Given the description of an element on the screen output the (x, y) to click on. 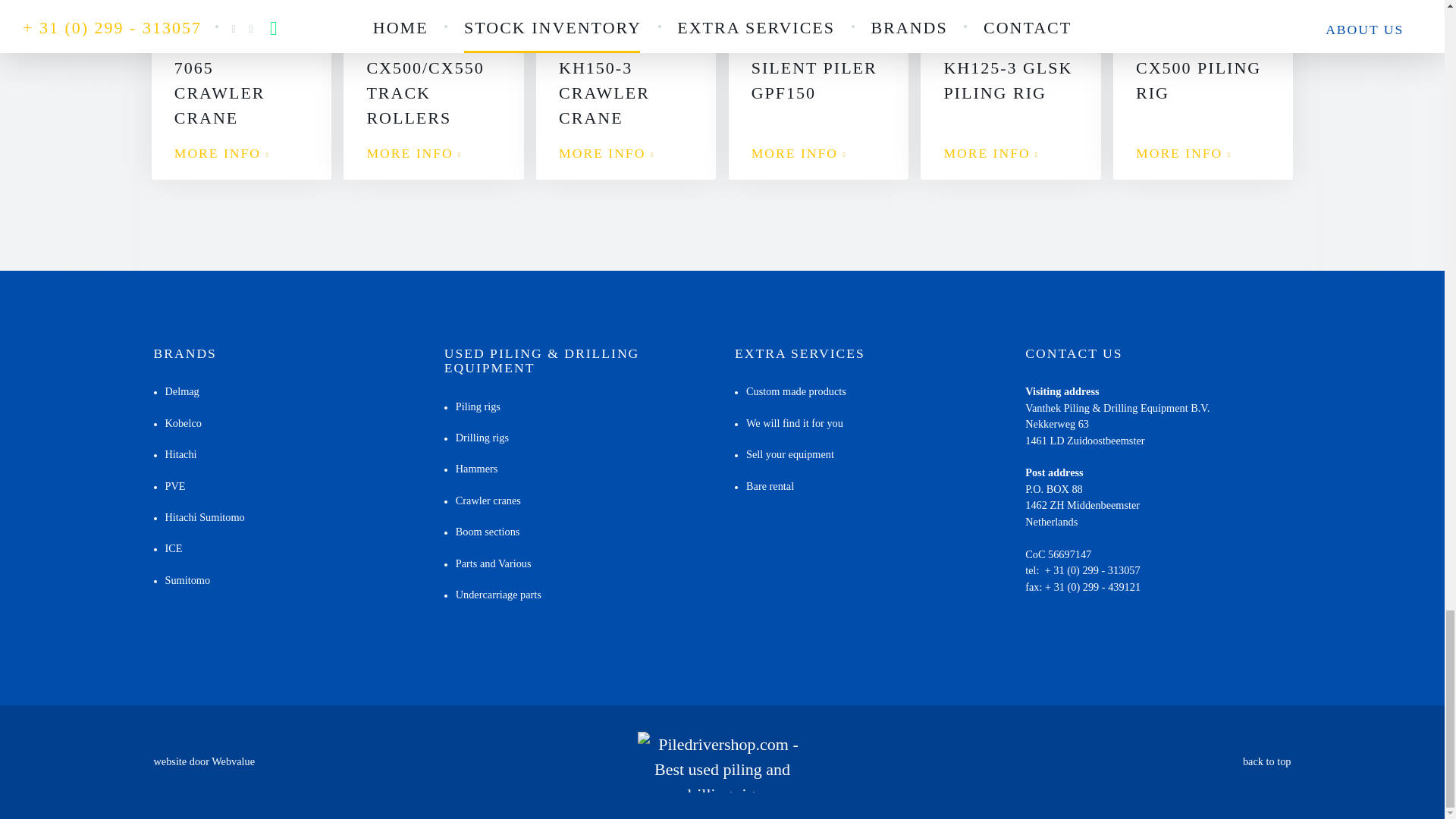
back to top (625, 89)
